Given the description of an element on the screen output the (x, y) to click on. 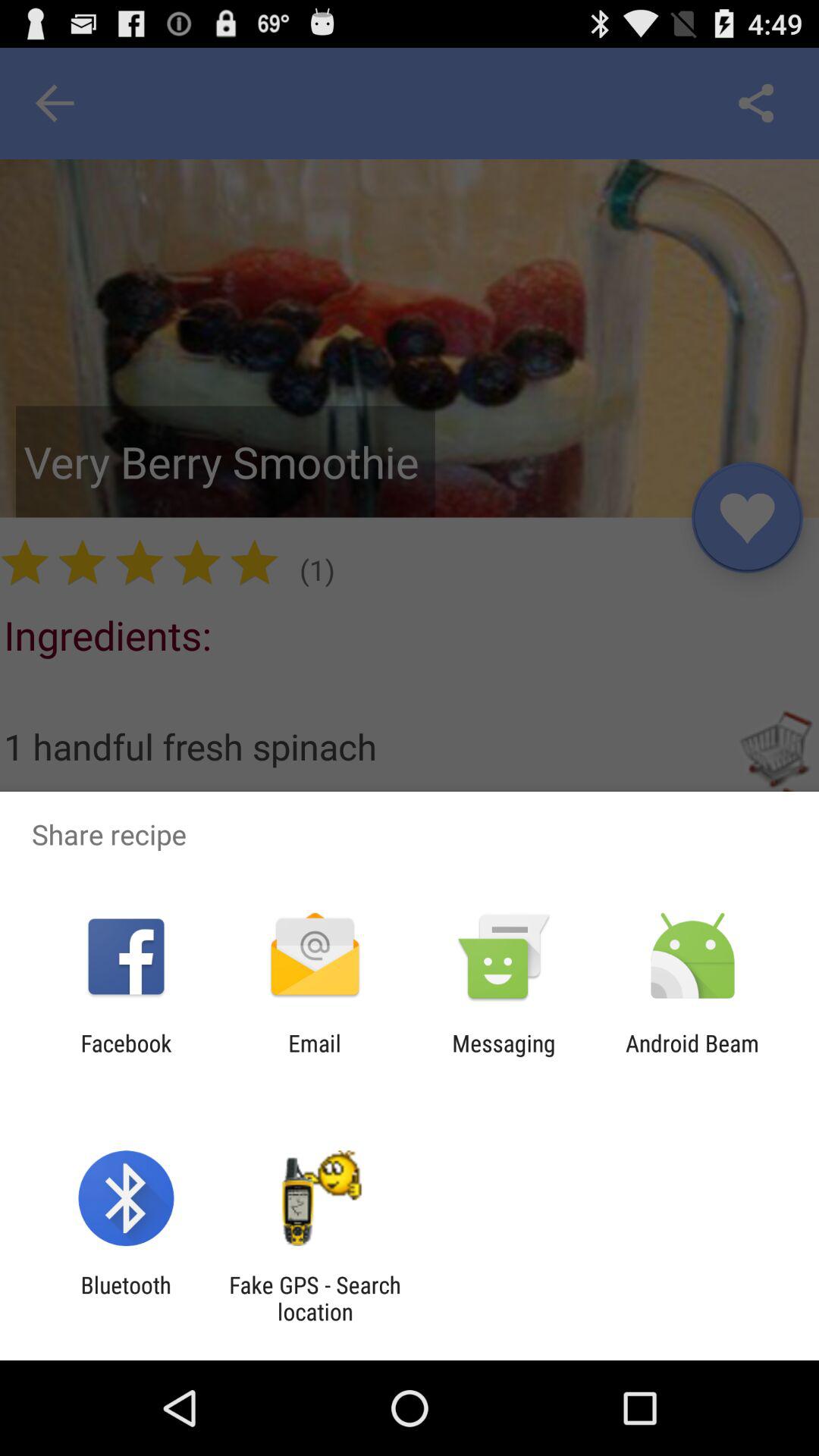
turn off the app next to android beam app (503, 1056)
